Given the description of an element on the screen output the (x, y) to click on. 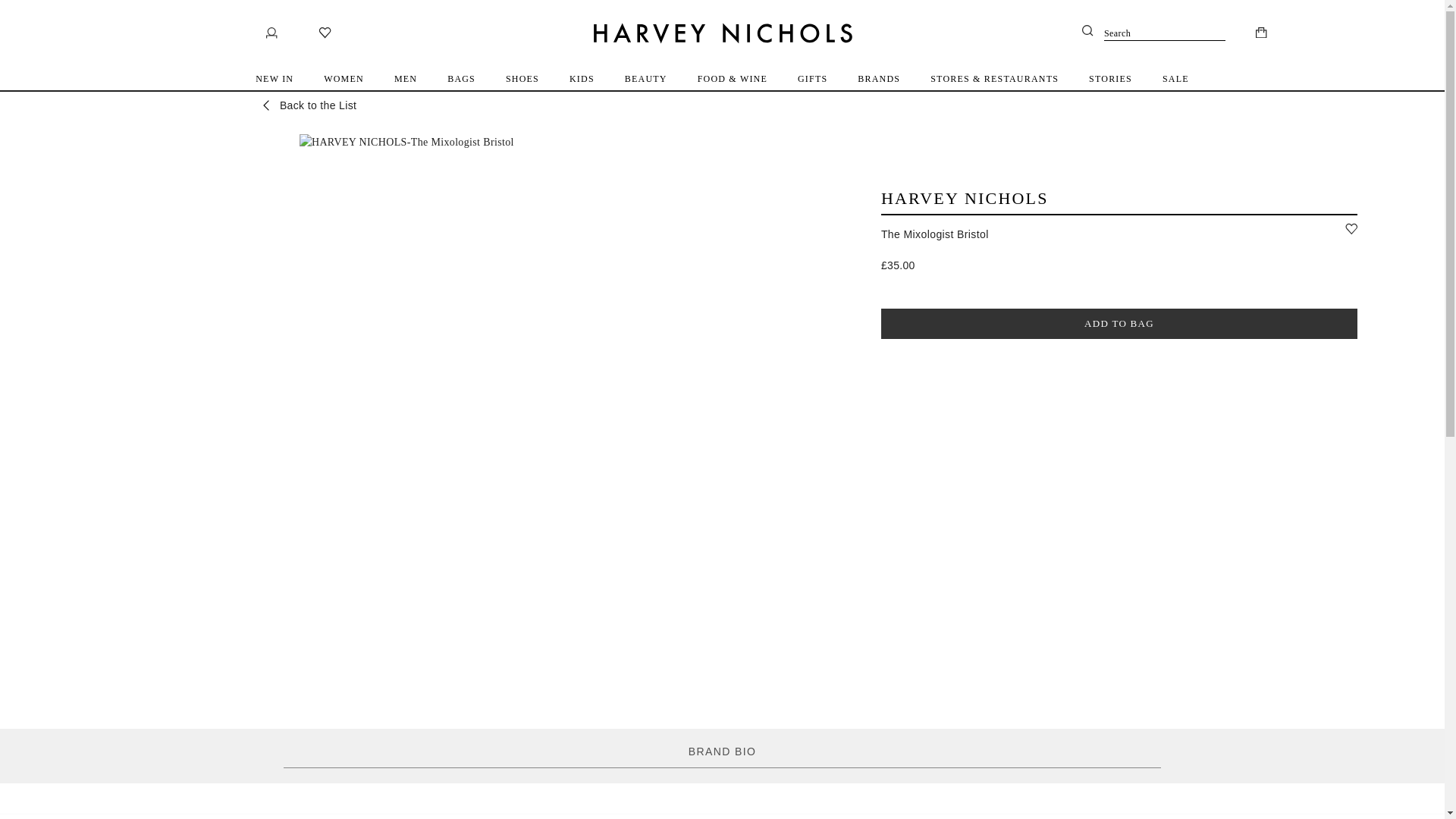
WOMEN (343, 78)
Add to Bag (1118, 323)
NEW IN (274, 78)
Search (1152, 32)
